Given the description of an element on the screen output the (x, y) to click on. 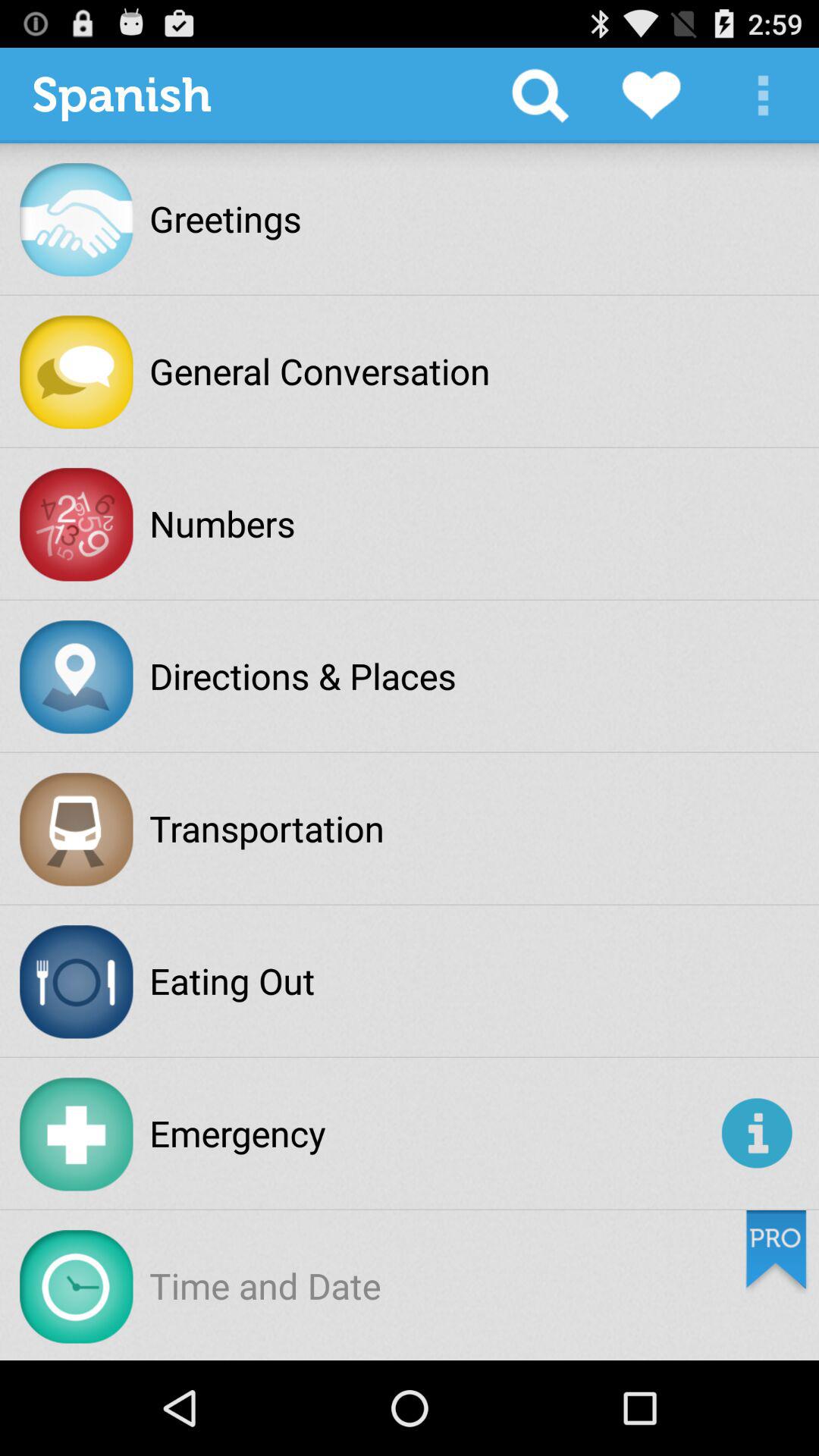
choose general conversation (319, 370)
